Given the description of an element on the screen output the (x, y) to click on. 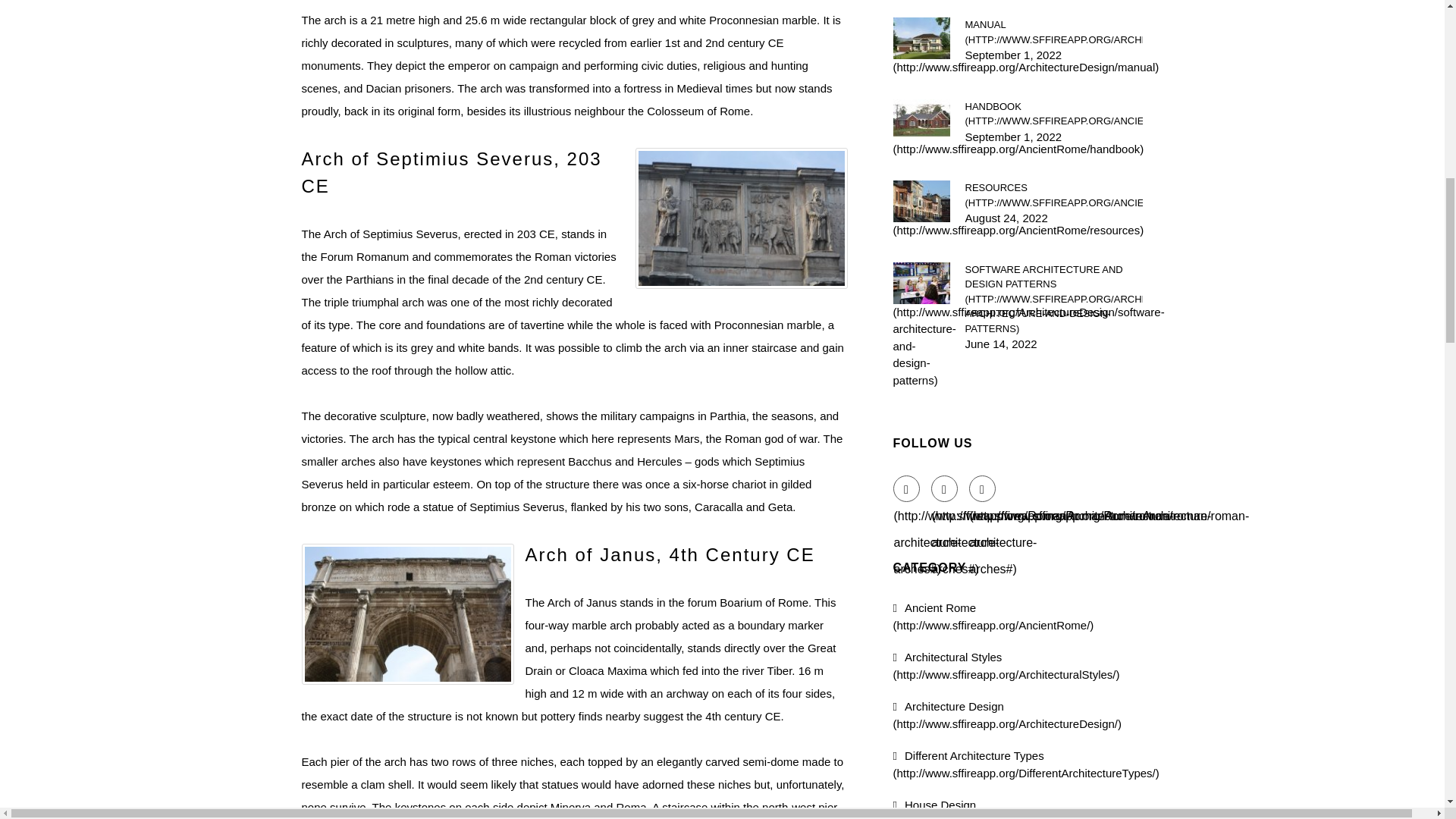
Facebook (906, 488)
View all posts filed under Architectural Styles (1006, 665)
View all posts filed under Architecture Design (1007, 715)
Twitter (944, 488)
View all posts filed under House Design (993, 808)
View all posts filed under Ancient Rome (993, 616)
HANDBOOK (1052, 112)
Google Plus (982, 488)
View all posts filed under Different Architecture Types (1025, 764)
MANUAL (1052, 31)
